Given the description of an element on the screen output the (x, y) to click on. 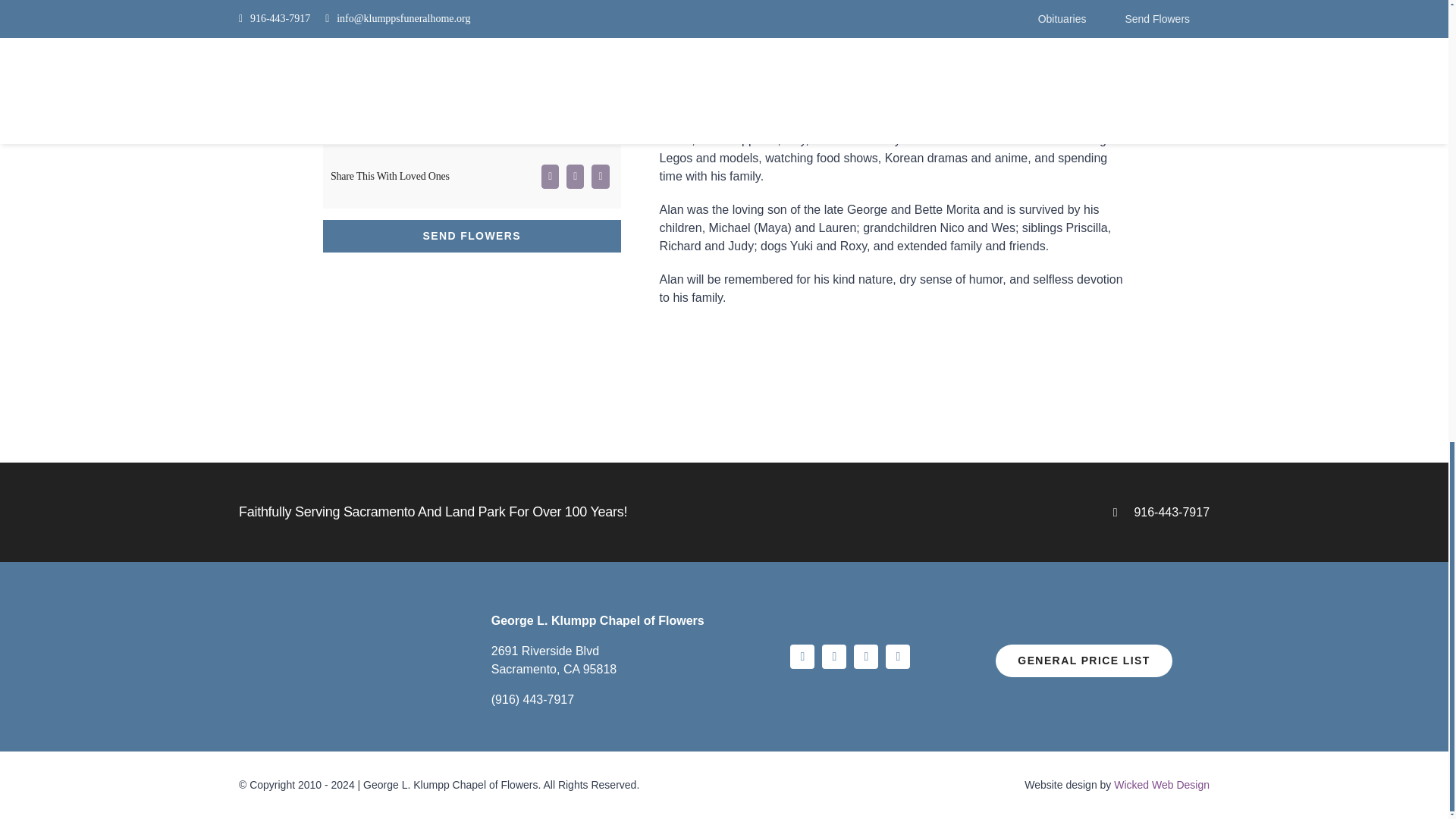
Facebook (801, 656)
7973320 (472, 49)
YouTube (833, 656)
Yelp (897, 656)
Wicked Web Design (1161, 784)
LinkedIn (865, 656)
